Given the description of an element on the screen output the (x, y) to click on. 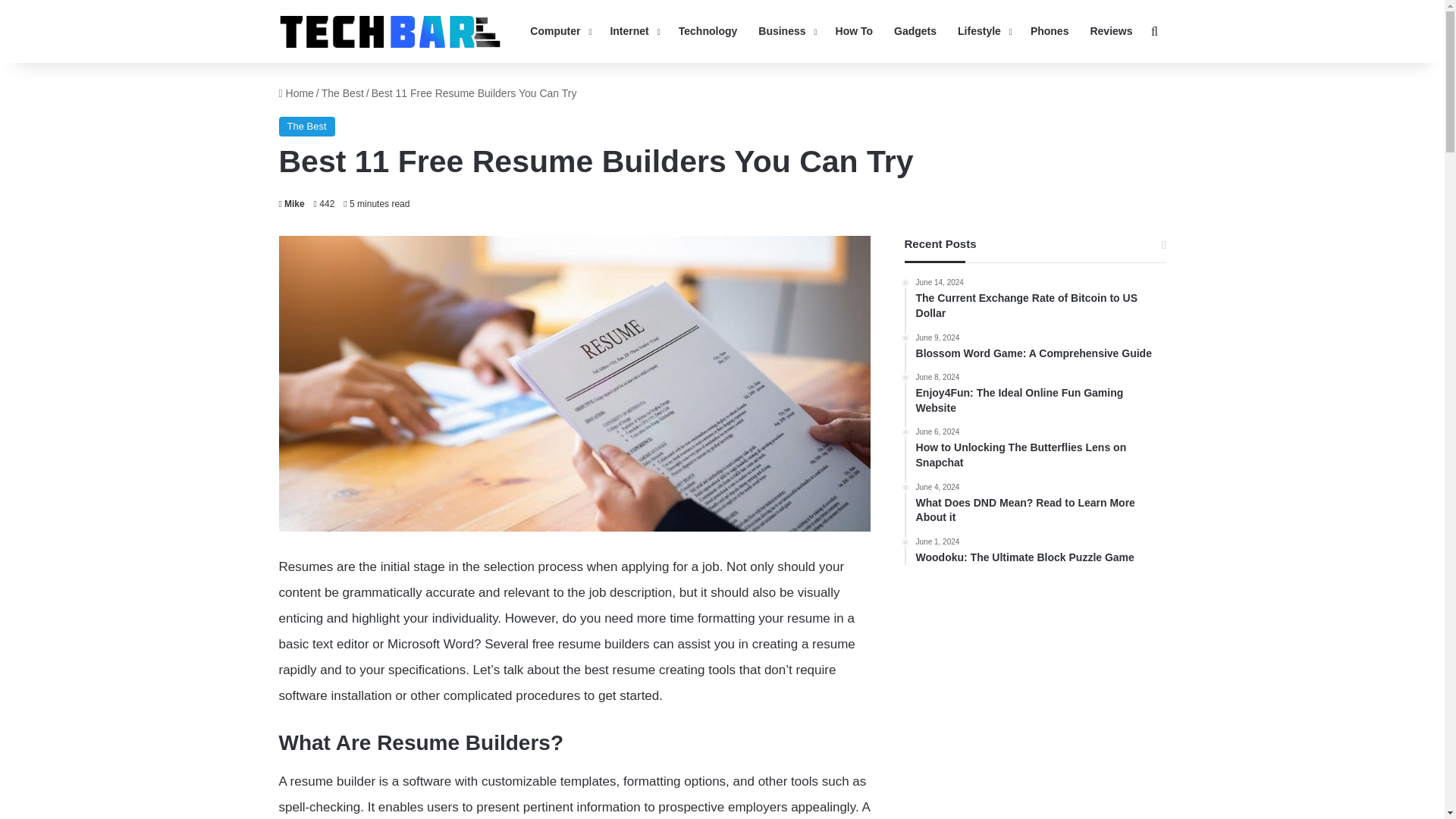
The Best (306, 126)
Lifestyle (983, 31)
TechBar (389, 31)
Home (296, 92)
Mike (291, 204)
The Best (342, 92)
Business (786, 31)
Internet (632, 31)
How To (854, 31)
Technology (708, 31)
